Given the description of an element on the screen output the (x, y) to click on. 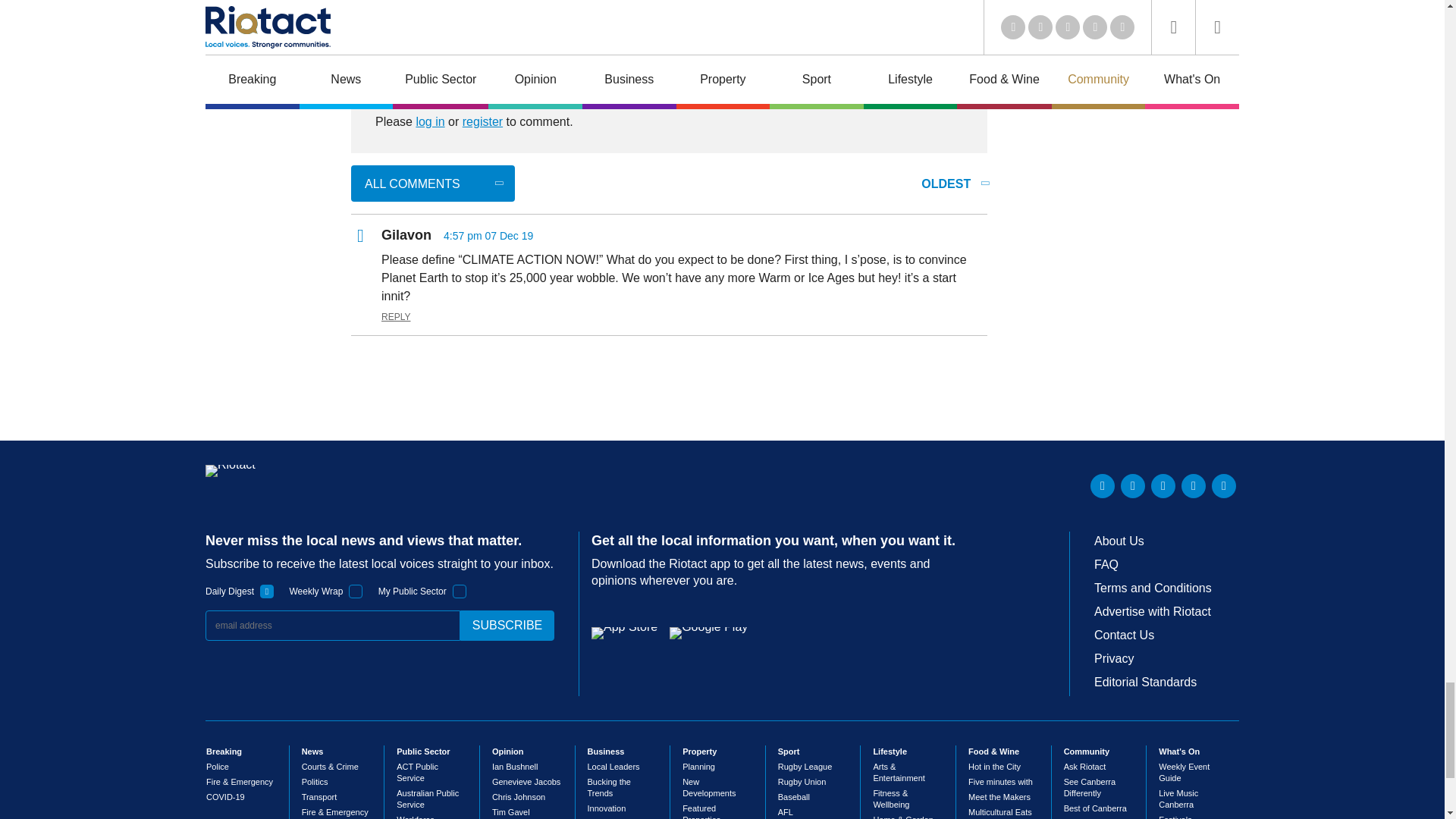
Facebook (1192, 485)
1 (355, 591)
Instagram (1223, 485)
1 (266, 591)
subscribe (507, 625)
Twitter (1132, 485)
App Store (624, 633)
1 (458, 591)
Youtube (1162, 485)
LinkedIn (1102, 485)
